Given the description of an element on the screen output the (x, y) to click on. 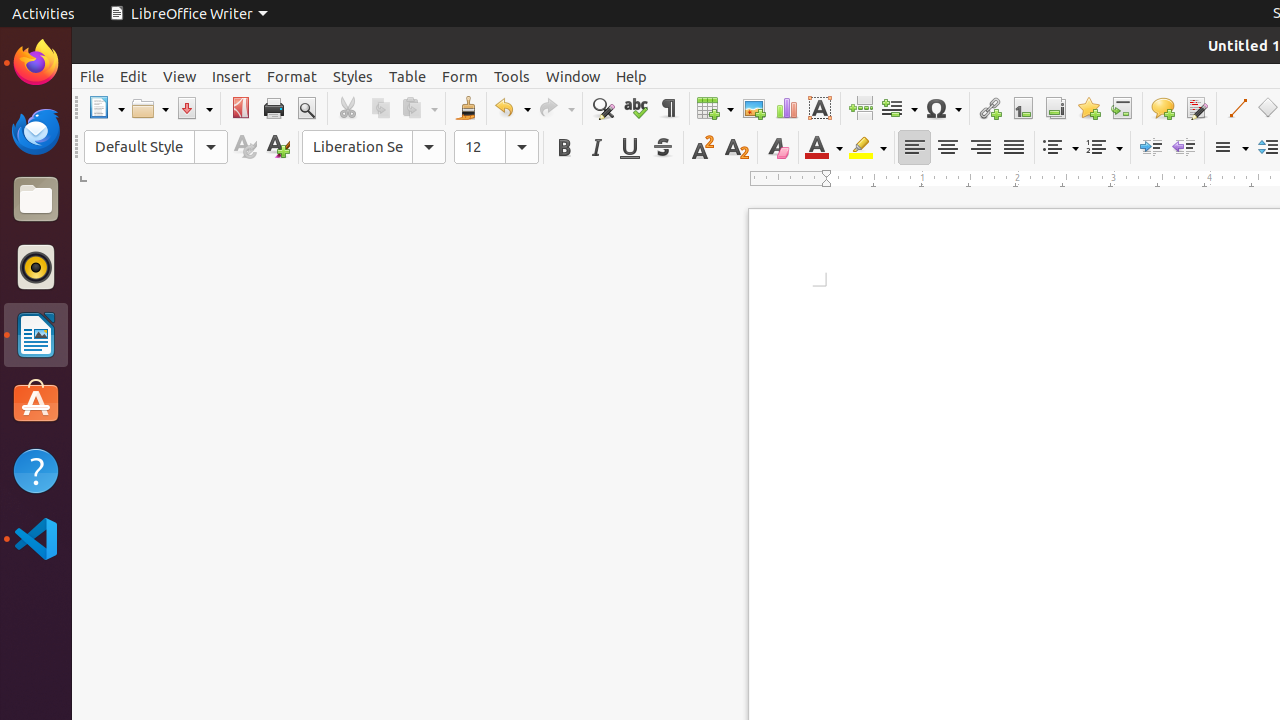
Format Element type: menu (292, 76)
Files Element type: push-button (36, 199)
Highlight Color Element type: push-button (868, 147)
File Element type: menu (92, 76)
Table Element type: menu (407, 76)
